Given the description of an element on the screen output the (x, y) to click on. 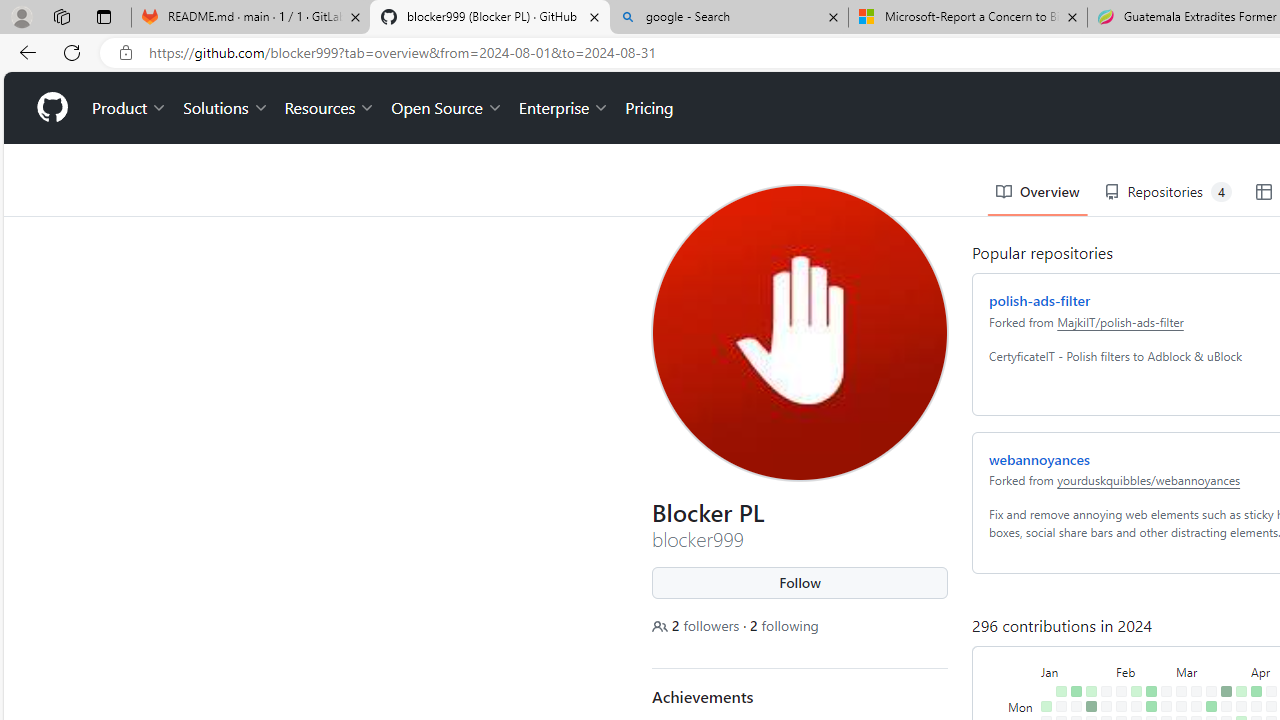
No contributions on March 29th. (1222, 694)
Achievement: Pull Shark (807, 677)
2 followers  (693, 553)
No contributions on March 7th. (1177, 678)
1 contribution on February 2nd. (1102, 694)
No contributions on January 4th. (1042, 678)
1 contribution on February 22nd. (1147, 678)
Monday (1017, 634)
2 contributions on January 3rd. (1042, 664)
No contributions on January 28th. (1102, 619)
3 contributions on April 5th. (1236, 694)
2 contributions on January 21st. (1087, 619)
Overview (1034, 120)
No contributions on March 19th. (1207, 649)
No contributions on March 27th. (1222, 664)
